Given the description of an element on the screen output the (x, y) to click on. 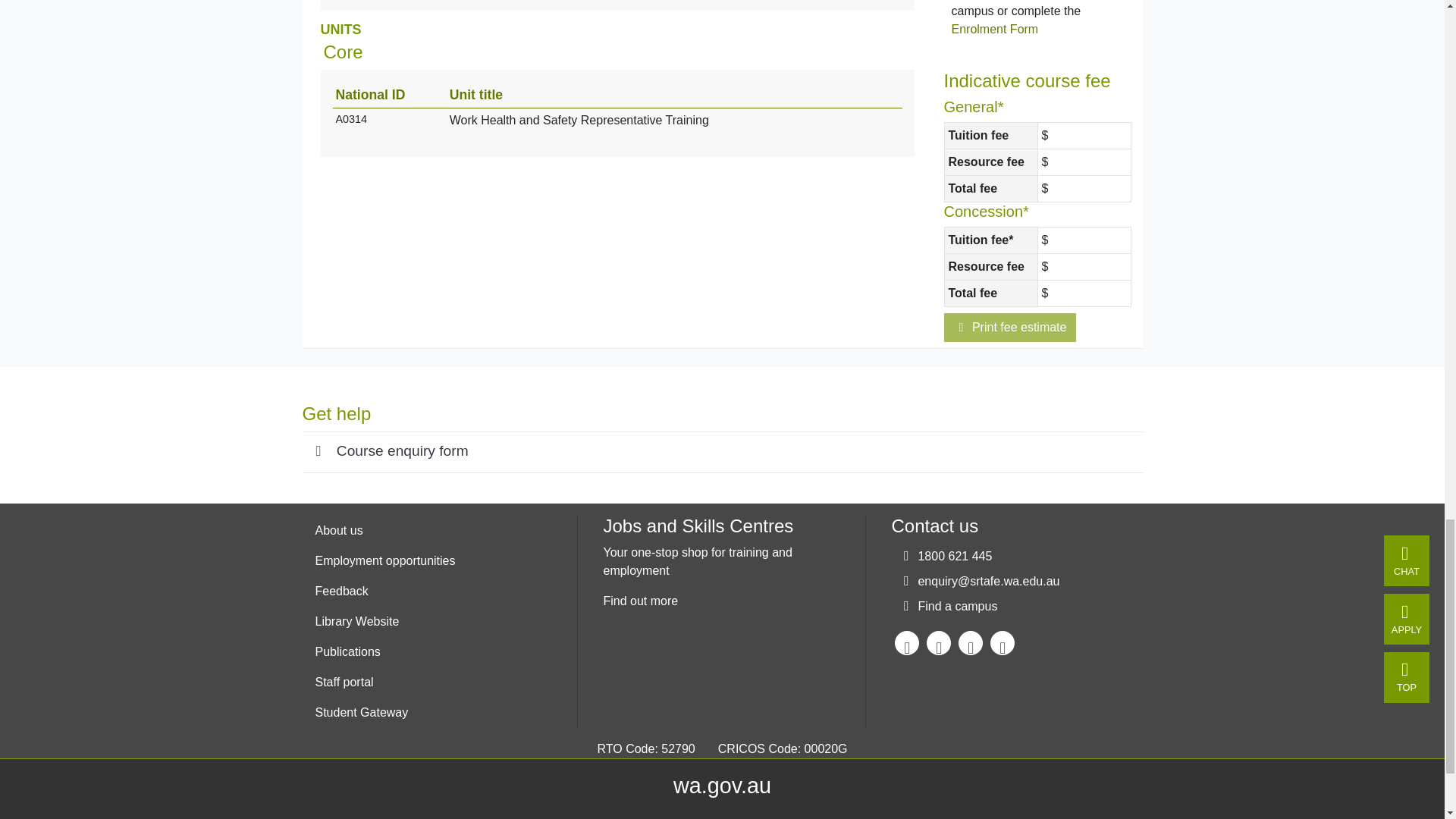
Go to WA Government Online Entry Point (721, 785)
About our college and facilities (385, 530)
Find out more about joining our workforce (385, 561)
Staff portal (385, 682)
